Given the description of an element on the screen output the (x, y) to click on. 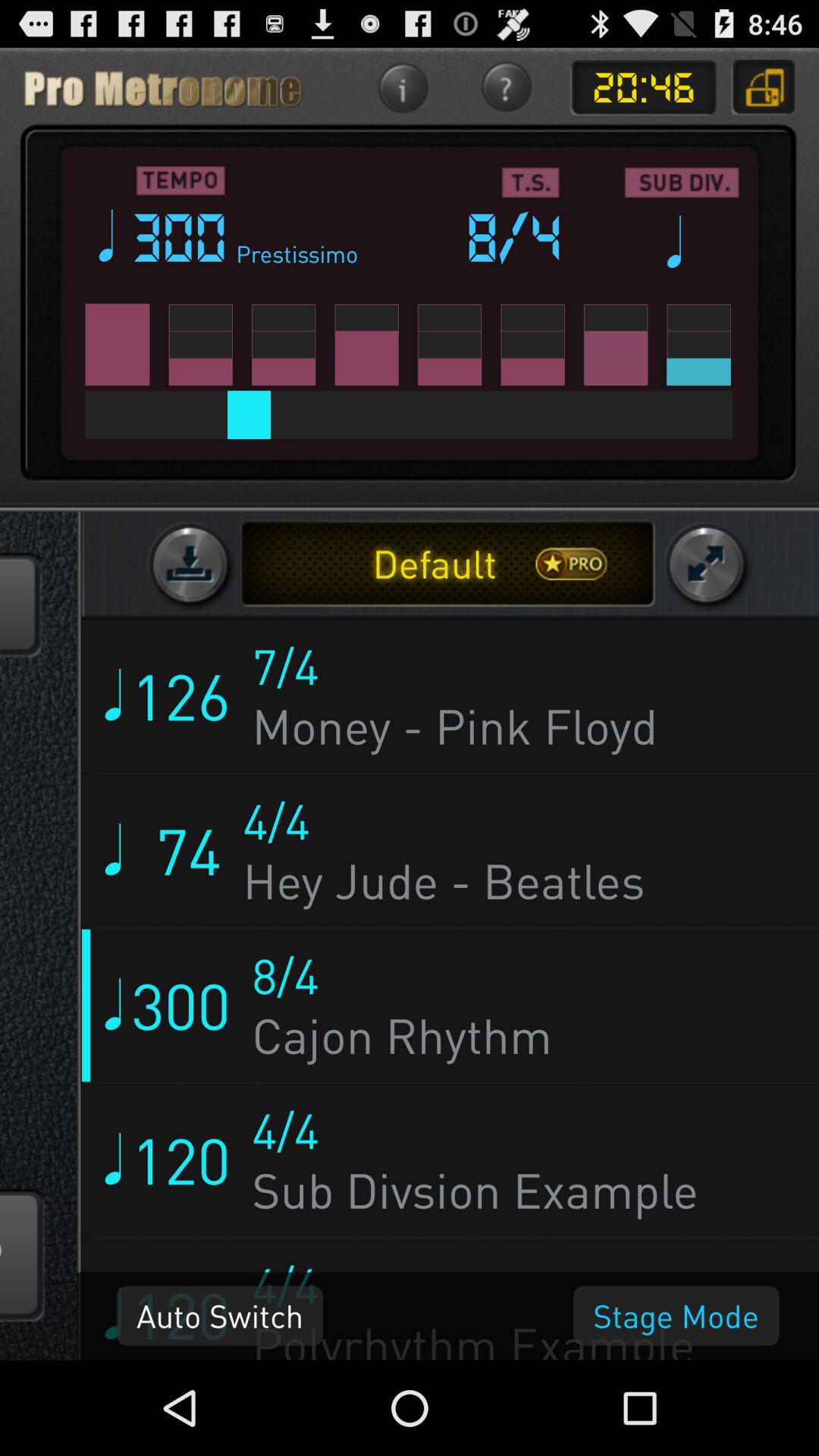
click on icon on the right side of 2046 (763, 88)
select the text below the button tempo on the web page (182, 237)
